Given the description of an element on the screen output the (x, y) to click on. 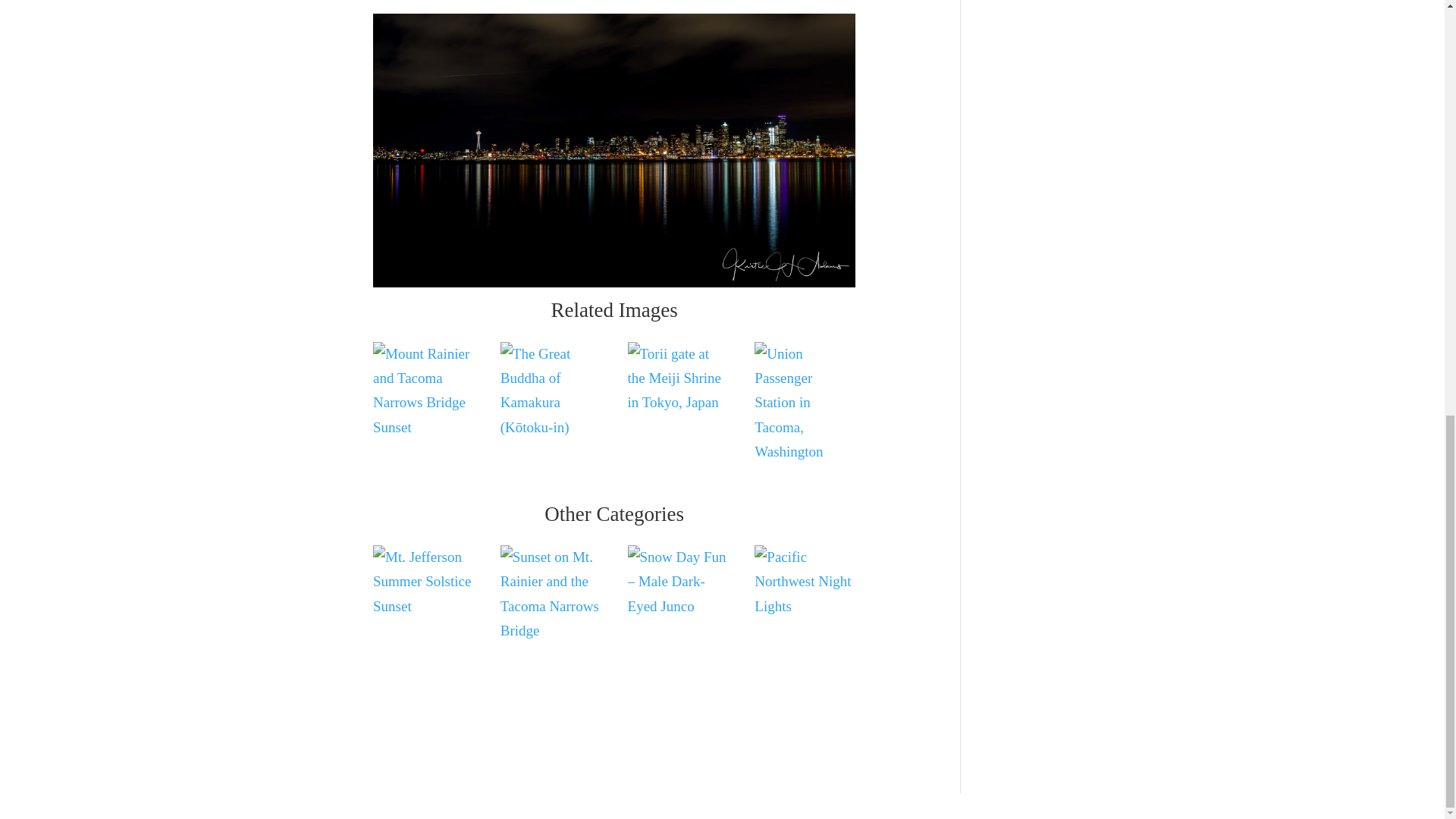
Seattle, Space Needle, Columbia Tower at Night (614, 286)
Torii gate at the Meiji Shrine in Tokyo, Japan (678, 378)
Mt. Jefferson Summer Solstice Sunset (423, 582)
Mount Rainier and Tacoma Narrows Bridge Sunset (423, 390)
Union Passenger Station in Tacoma, Washington (805, 403)
Pacific Northwest Night Lights (805, 582)
Seattle, Space Needle, Columbia Tower at Night (614, 150)
Sunset on Mt. Rainier and the Tacoma Narrows Bridge (550, 593)
